Given the description of an element on the screen output the (x, y) to click on. 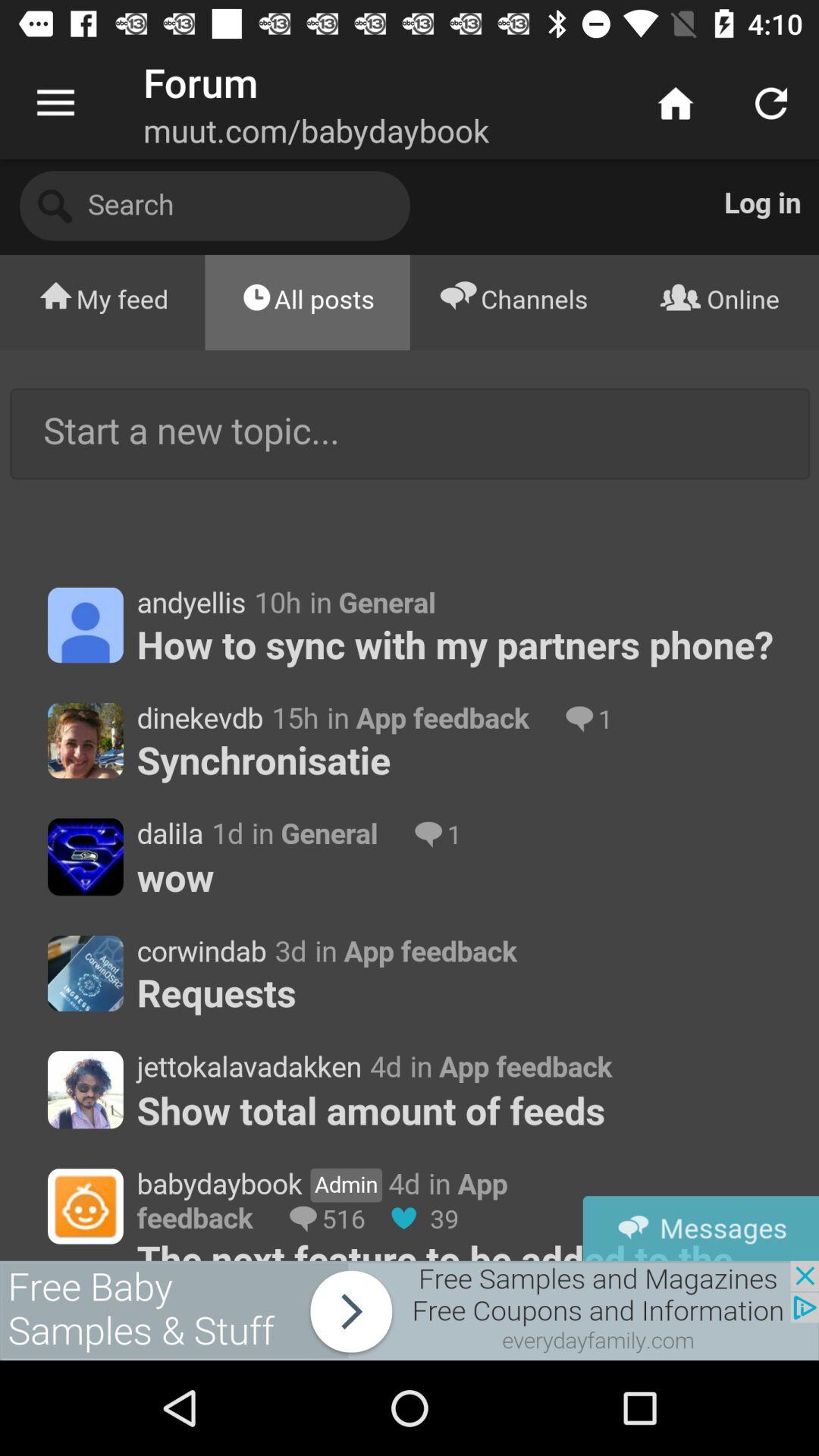
description (409, 709)
